Given the description of an element on the screen output the (x, y) to click on. 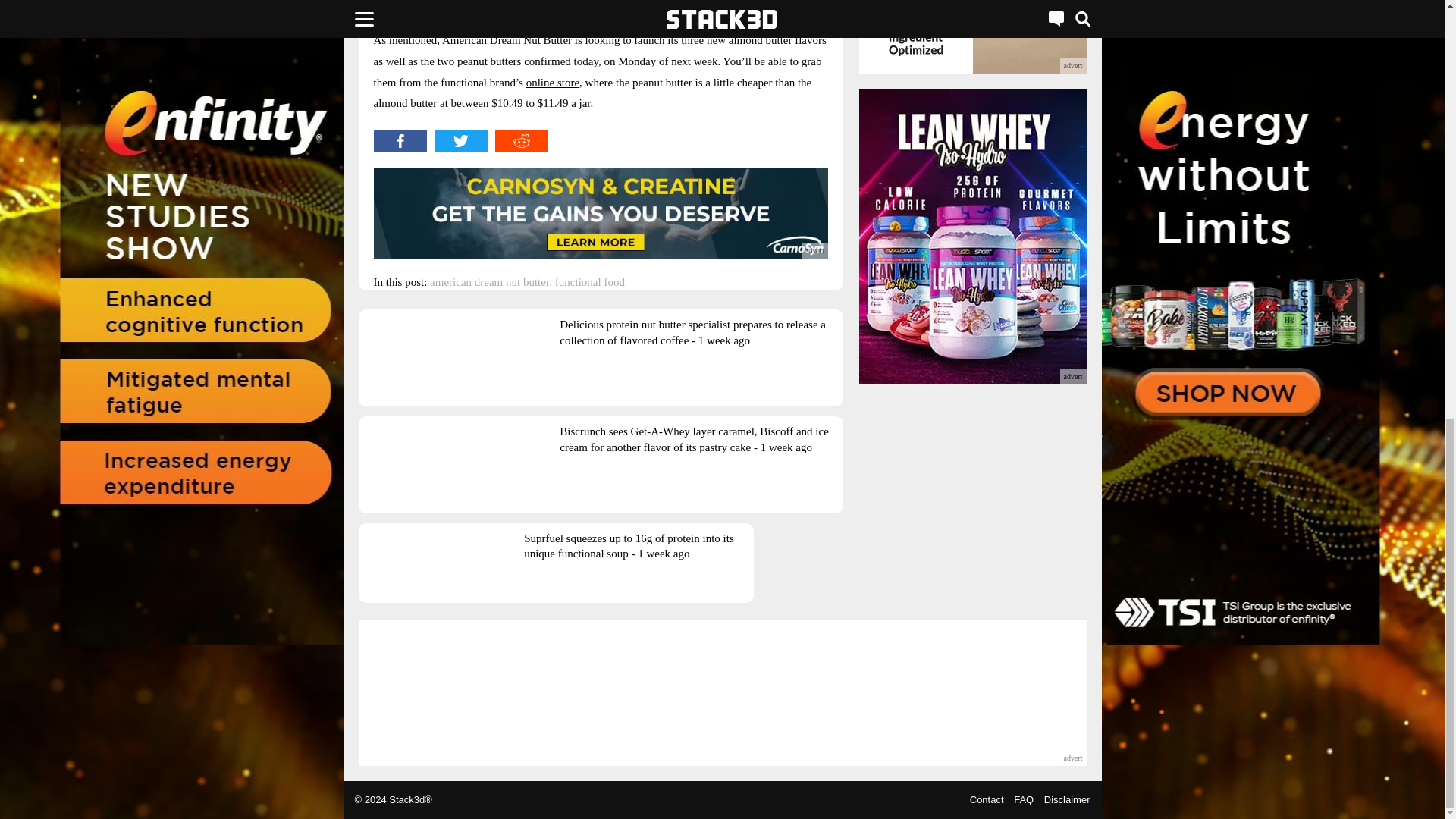
online store (552, 82)
american dream nut butter (488, 282)
